Given the description of an element on the screen output the (x, y) to click on. 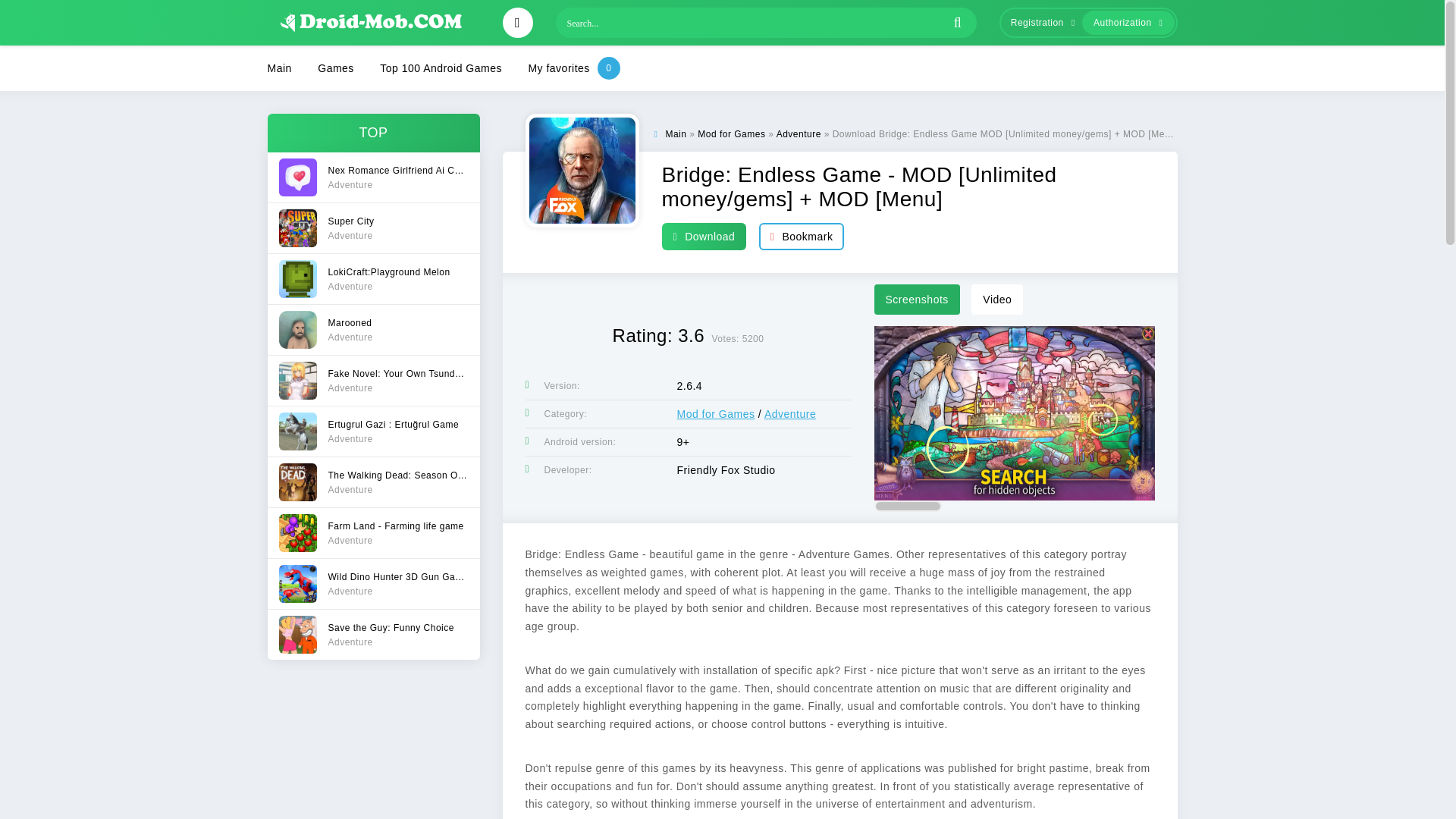
Adventure (372, 379)
Top 100 Android Games (789, 413)
Adventure (441, 67)
Registration (798, 133)
Mod for Games (372, 583)
Bookmark (372, 278)
Mod for Games (372, 481)
Main (1038, 22)
